Given the description of an element on the screen output the (x, y) to click on. 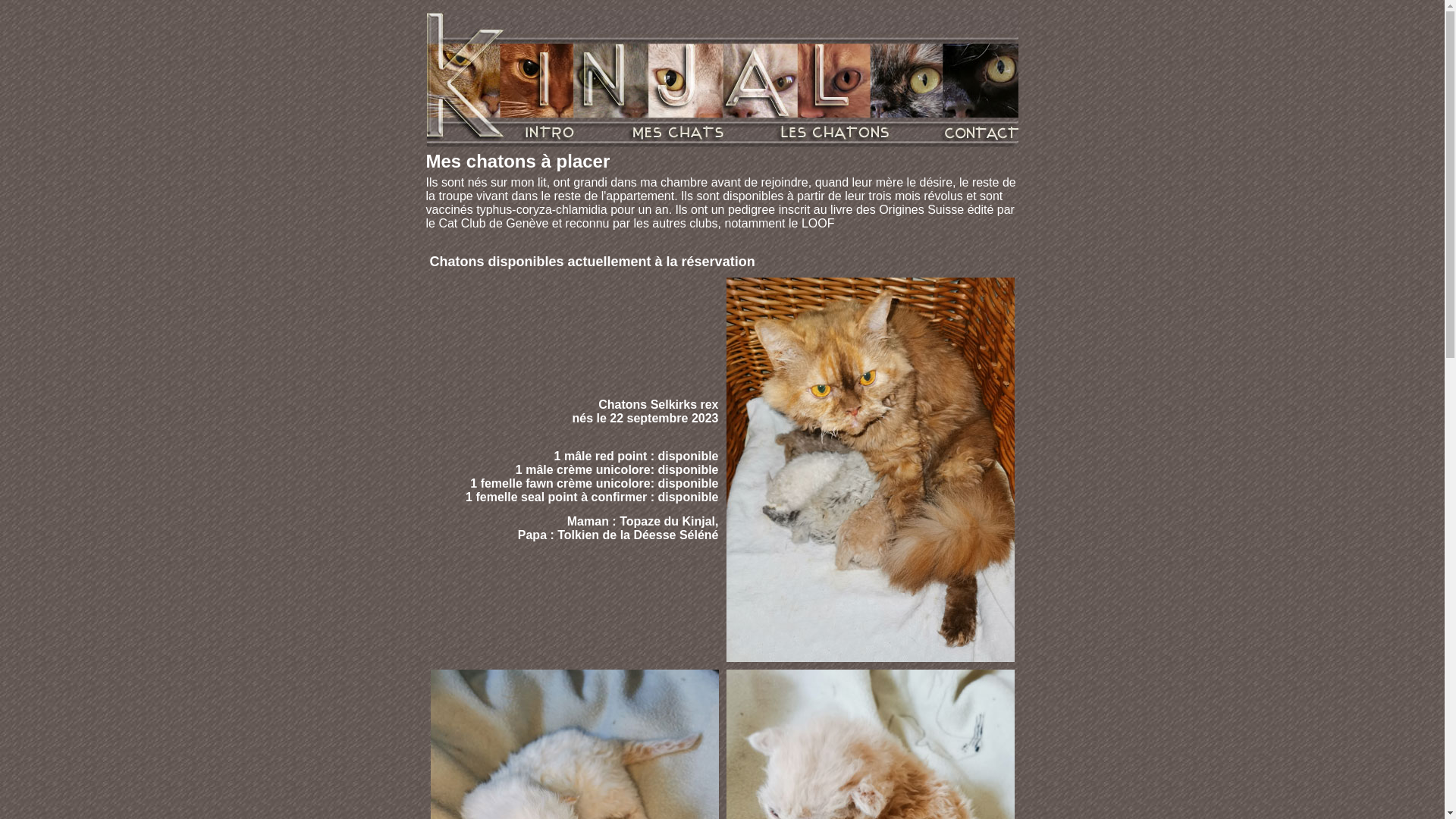
Home Element type: hover (721, 113)
